Given the description of an element on the screen output the (x, y) to click on. 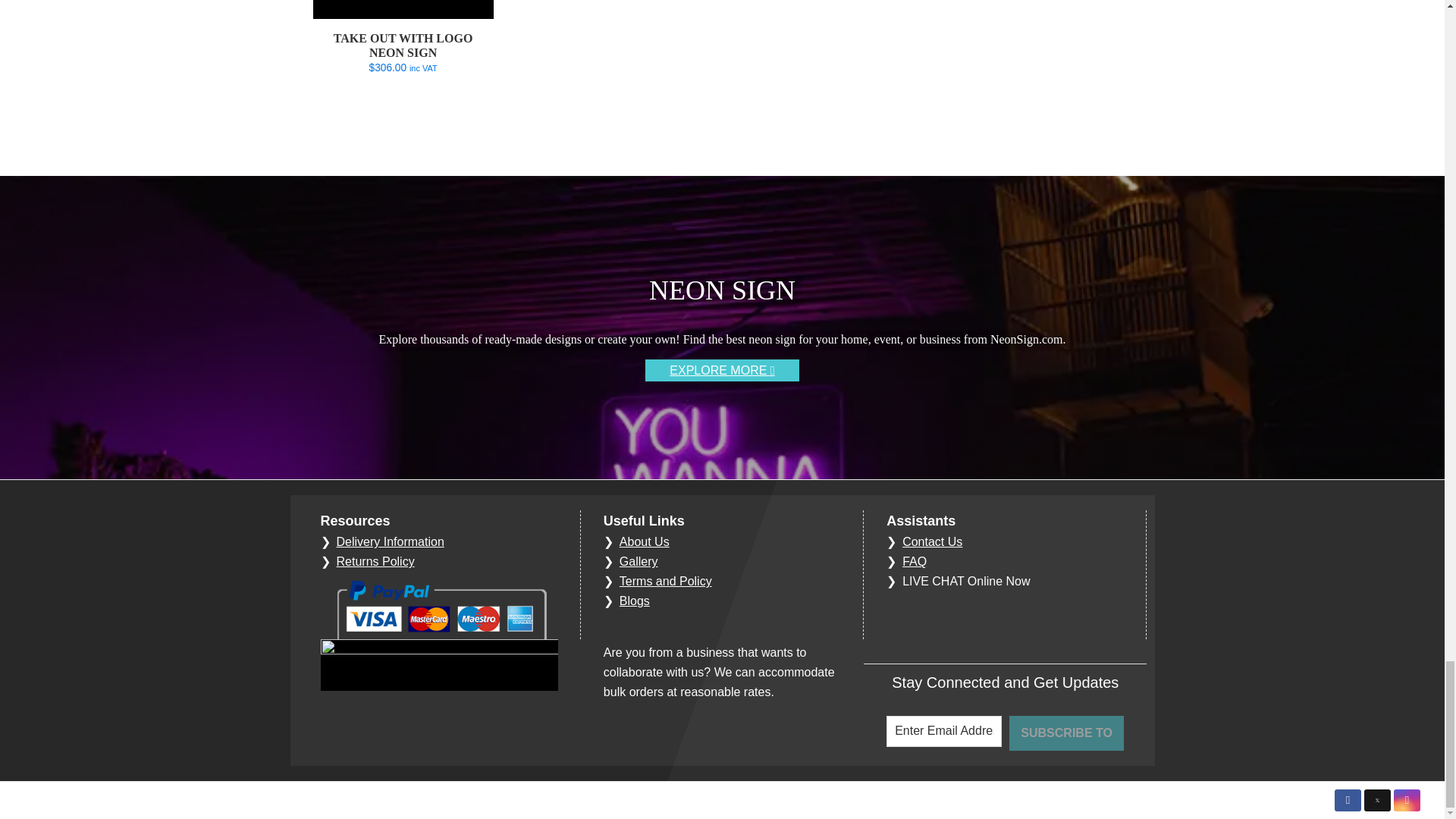
Contact Us (932, 541)
Live Chat (965, 581)
SUBSCRIBE TO (1066, 733)
FAQ (914, 561)
